Given the description of an element on the screen output the (x, y) to click on. 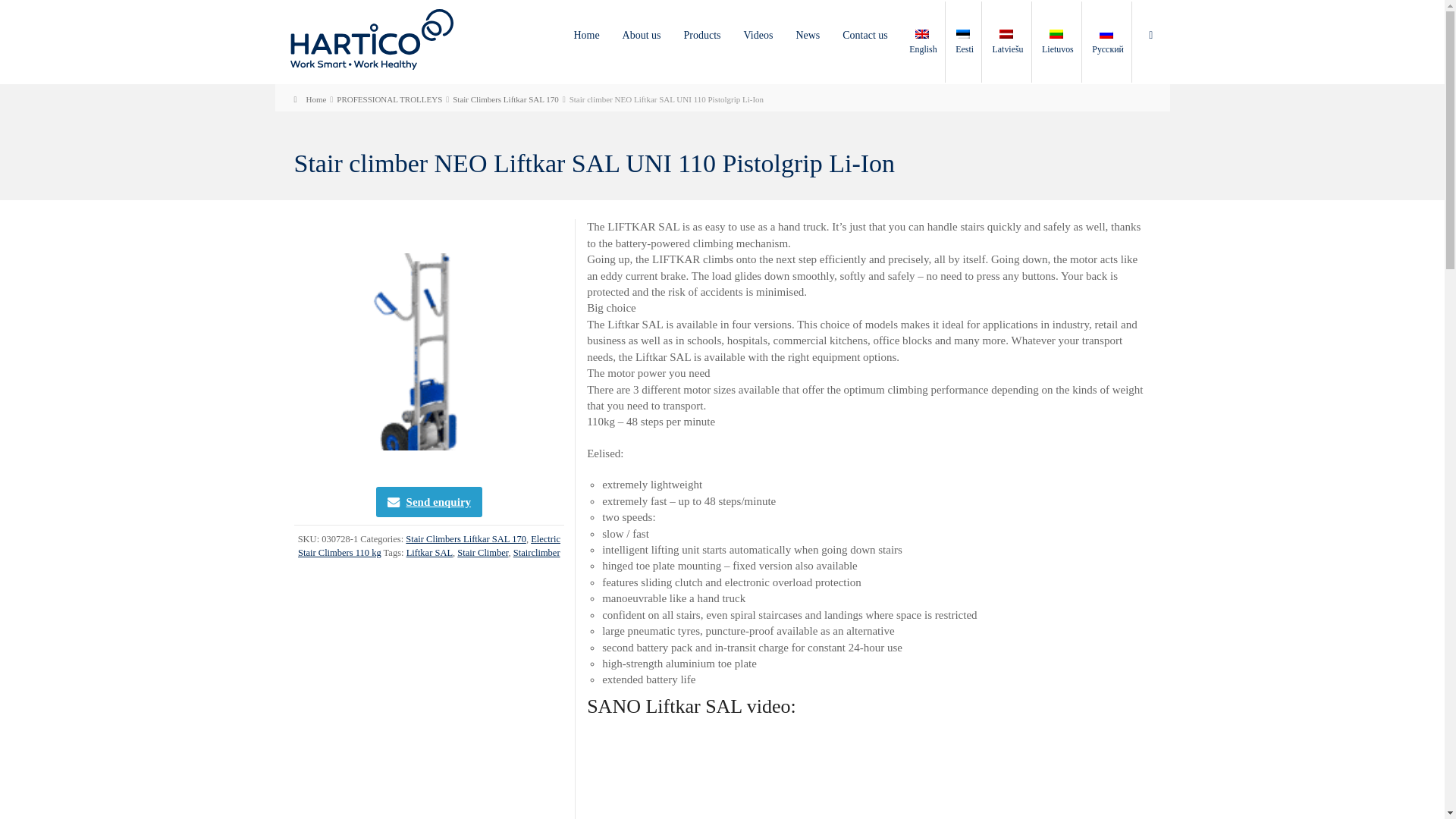
About us (641, 35)
Stair Climbers Liftkar SAL 170 (465, 538)
Home (310, 99)
Hartico (370, 37)
Send enquiry (428, 501)
YouTube player (776, 787)
Electric Stair Climbers 110 kg (429, 545)
PROFESSIONAL TROLLEYS (389, 99)
Contact us (865, 35)
Stair Climbers Liftkar SAL 170 (505, 99)
